Given the description of an element on the screen output the (x, y) to click on. 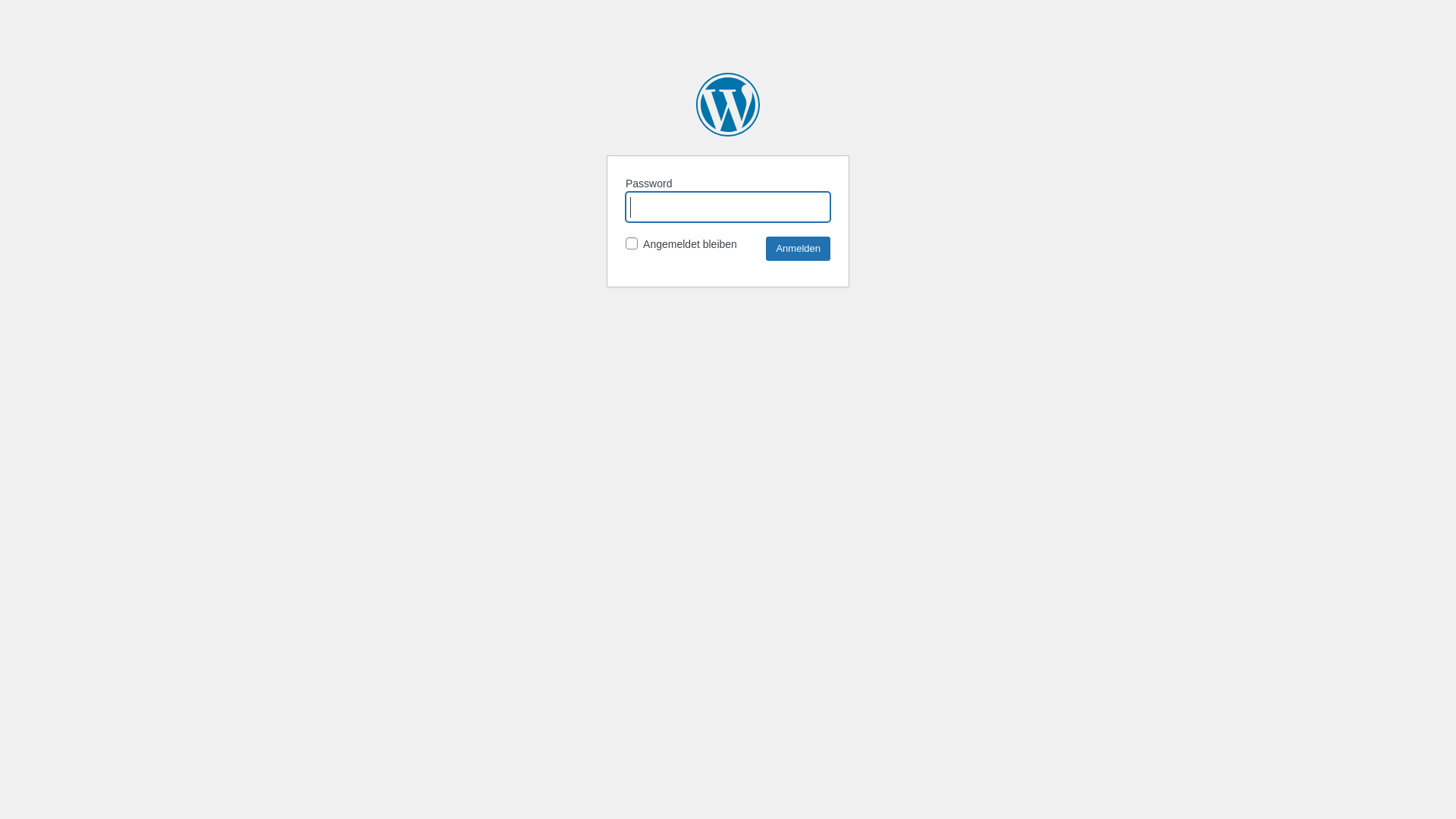
BINOVA AG Element type: text (727, 104)
Anmelden Element type: text (797, 248)
